Given the description of an element on the screen output the (x, y) to click on. 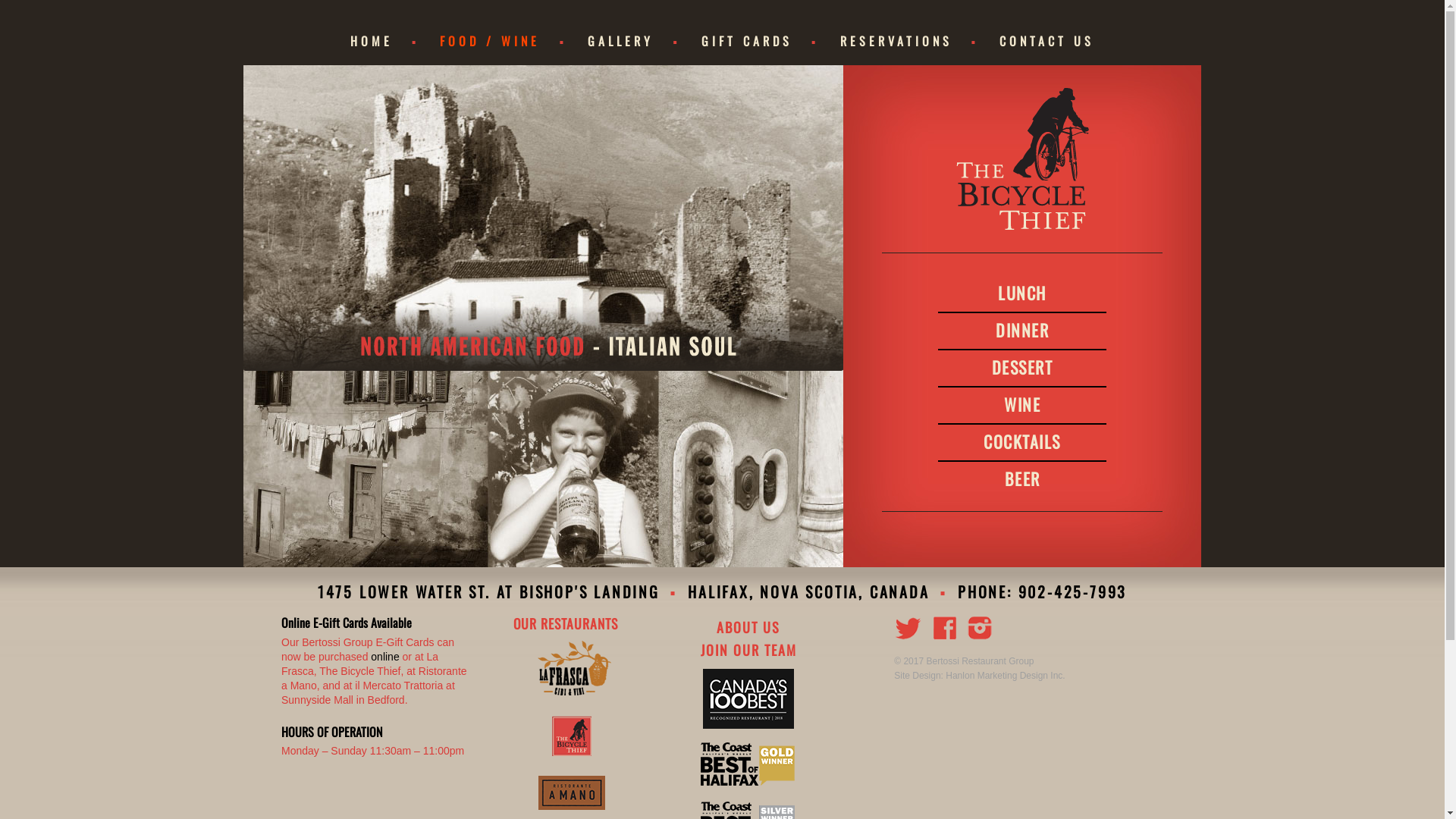
Canadas 100 Best Restaurants Element type: hover (747, 724)
COCKTAILS Element type: text (1021, 441)
BEER Element type: text (1021, 478)
JOIN OUR TEAM Element type: text (748, 649)
FOOD / WINE Element type: text (503, 40)
GIFT CARDS Element type: text (759, 40)
ut-north-american-food-italian-soul Element type: hover (543, 217)
CONTACT US Element type: text (1046, 40)
The Coast - Best of Food Award Halifax Element type: hover (748, 782)
lower-seniors Element type: hover (543, 468)
WINE Element type: text (1022, 404)
LUNCH Element type: text (1021, 292)
HOME Element type: text (384, 40)
RESERVATIONS Element type: text (909, 40)
online Element type: text (384, 656)
DESSERT Element type: text (1022, 366)
Bicycle Thief Element type: hover (571, 751)
La Frasca Element type: hover (571, 690)
ABOUT US Element type: text (748, 627)
Ristorante Amano Element type: hover (571, 805)
GALLERY Element type: text (633, 40)
Bicycle Thief Element type: hover (1021, 158)
upper-old-castle Element type: hover (543, 217)
DINNER Element type: text (1021, 329)
